Given the description of an element on the screen output the (x, y) to click on. 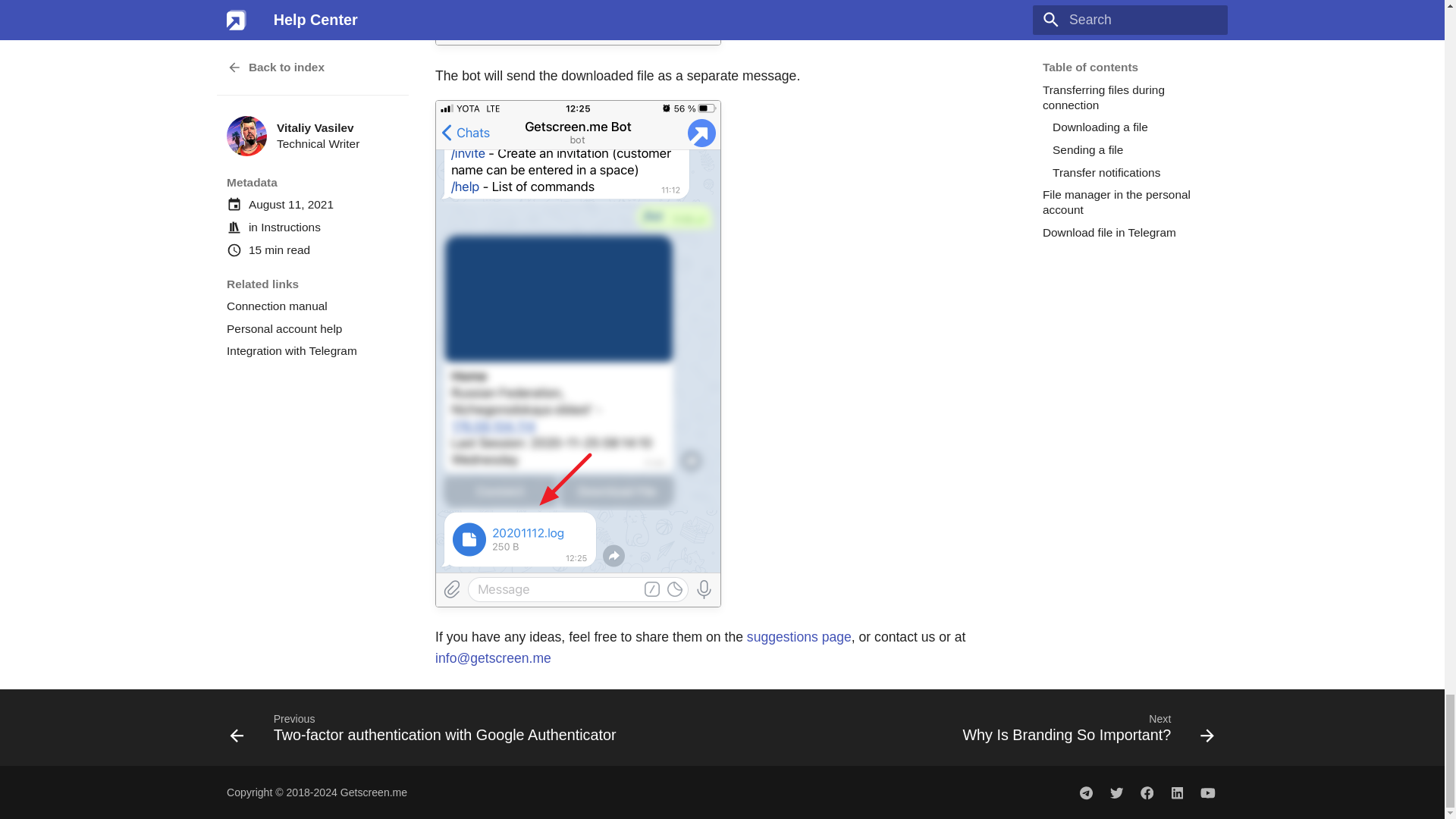
t.me (1086, 792)
www.linkedin.com (1177, 792)
www.facebook.com (1147, 792)
twitter.com (1116, 792)
www.youtube.com (1207, 792)
